Given the description of an element on the screen output the (x, y) to click on. 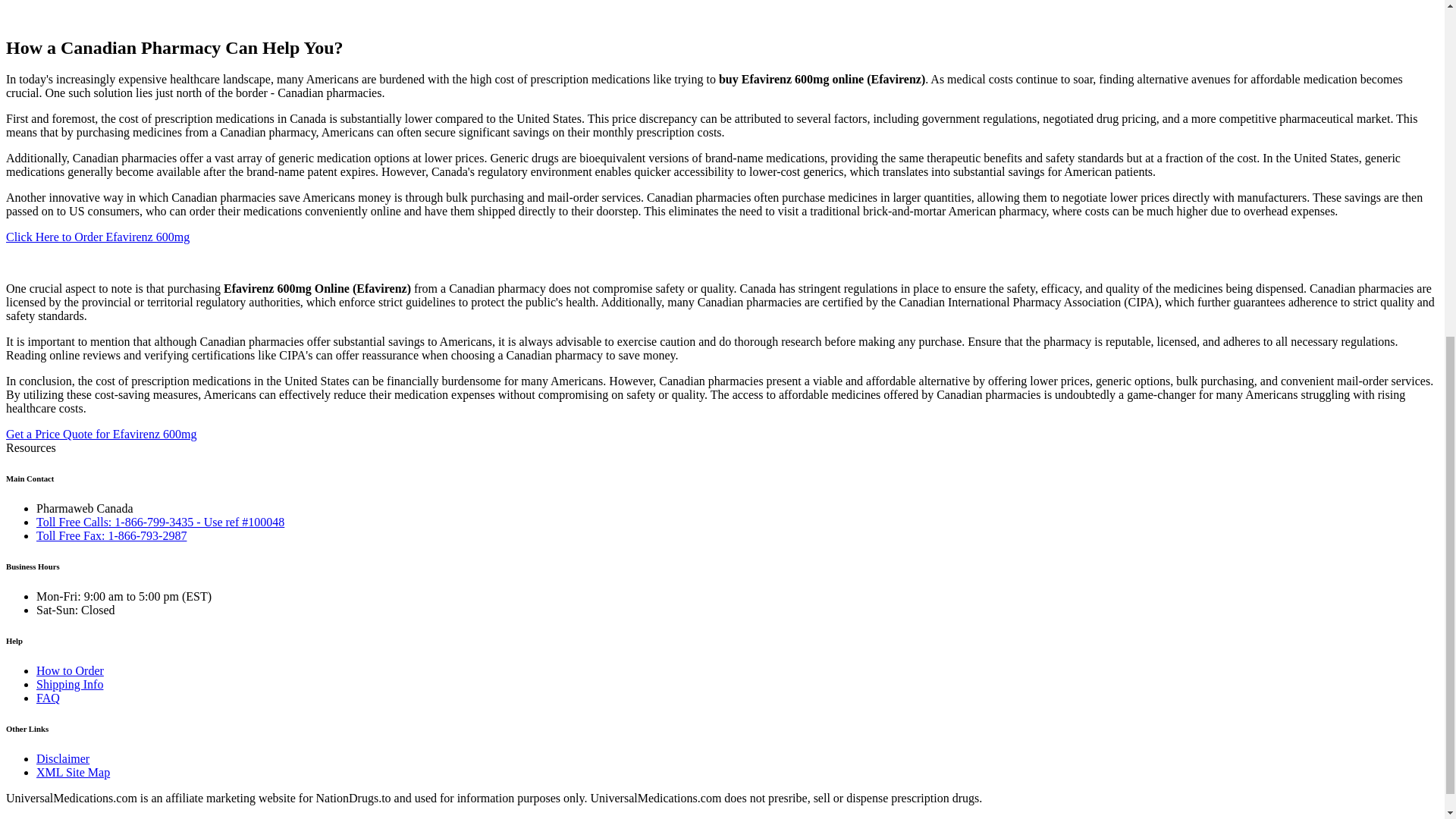
Disclaimer (62, 758)
Get a Price Quote for Efavirenz 600mg (100, 433)
Click Here to Order Efavirenz 600mg (97, 236)
FAQ (47, 697)
Shipping Info (69, 684)
XML Site Map (73, 771)
Toll Free Fax: 1-866-793-2987 (111, 535)
How to Order (69, 670)
